Given the description of an element on the screen output the (x, y) to click on. 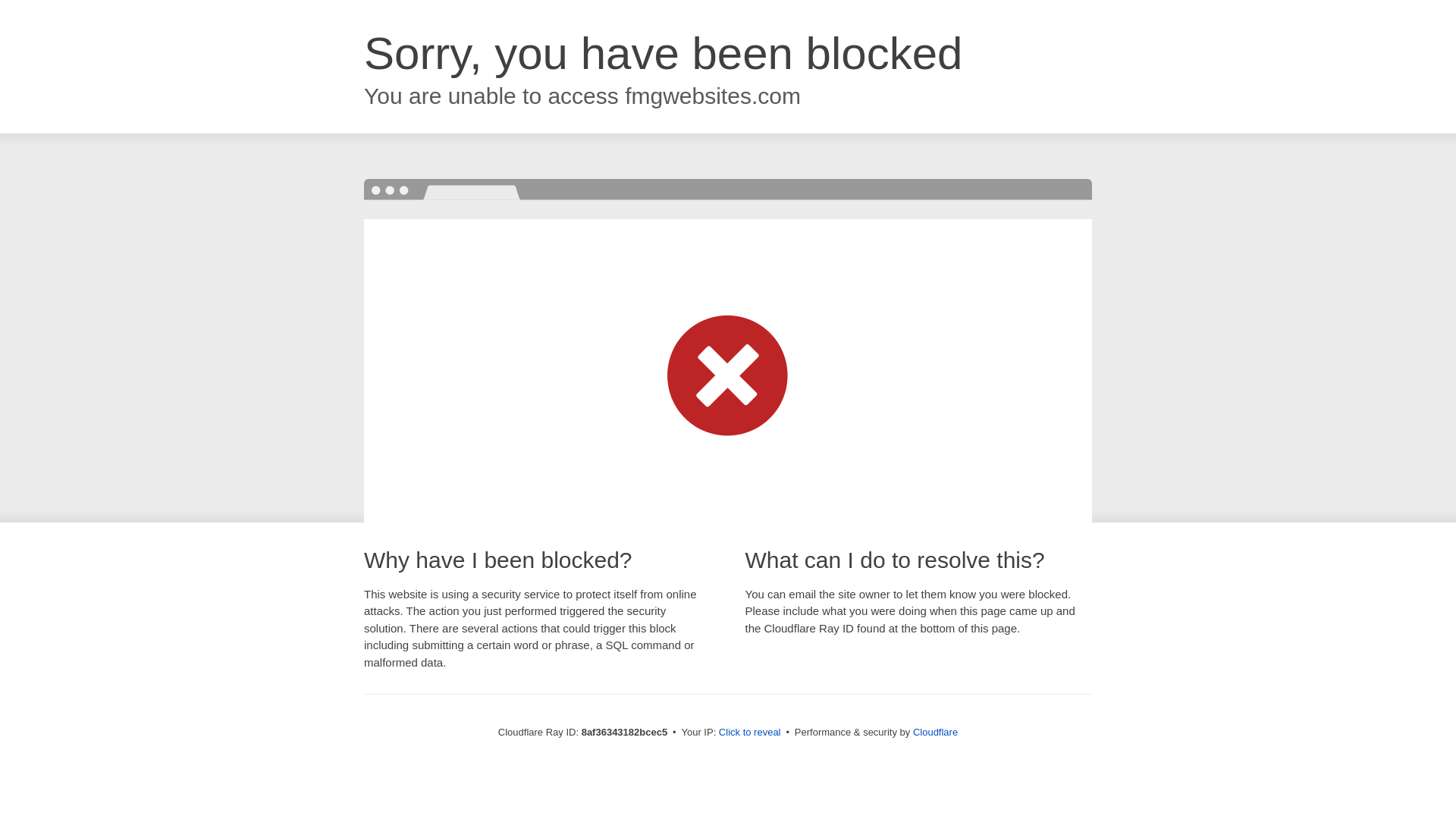
Cloudflare (935, 731)
Click to reveal (749, 732)
